Given the description of an element on the screen output the (x, y) to click on. 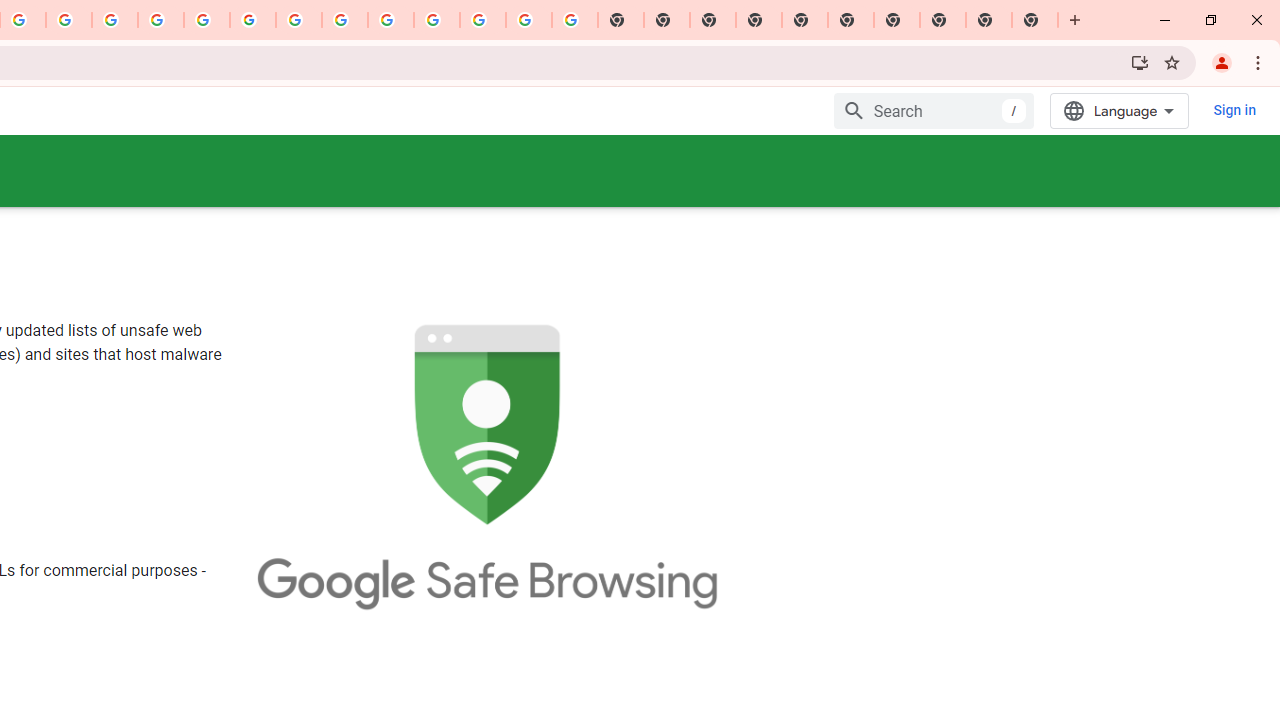
YouTube (299, 20)
Install Google Developers (1139, 62)
Google Images (574, 20)
Privacy Help Center - Policies Help (161, 20)
